Given the description of an element on the screen output the (x, y) to click on. 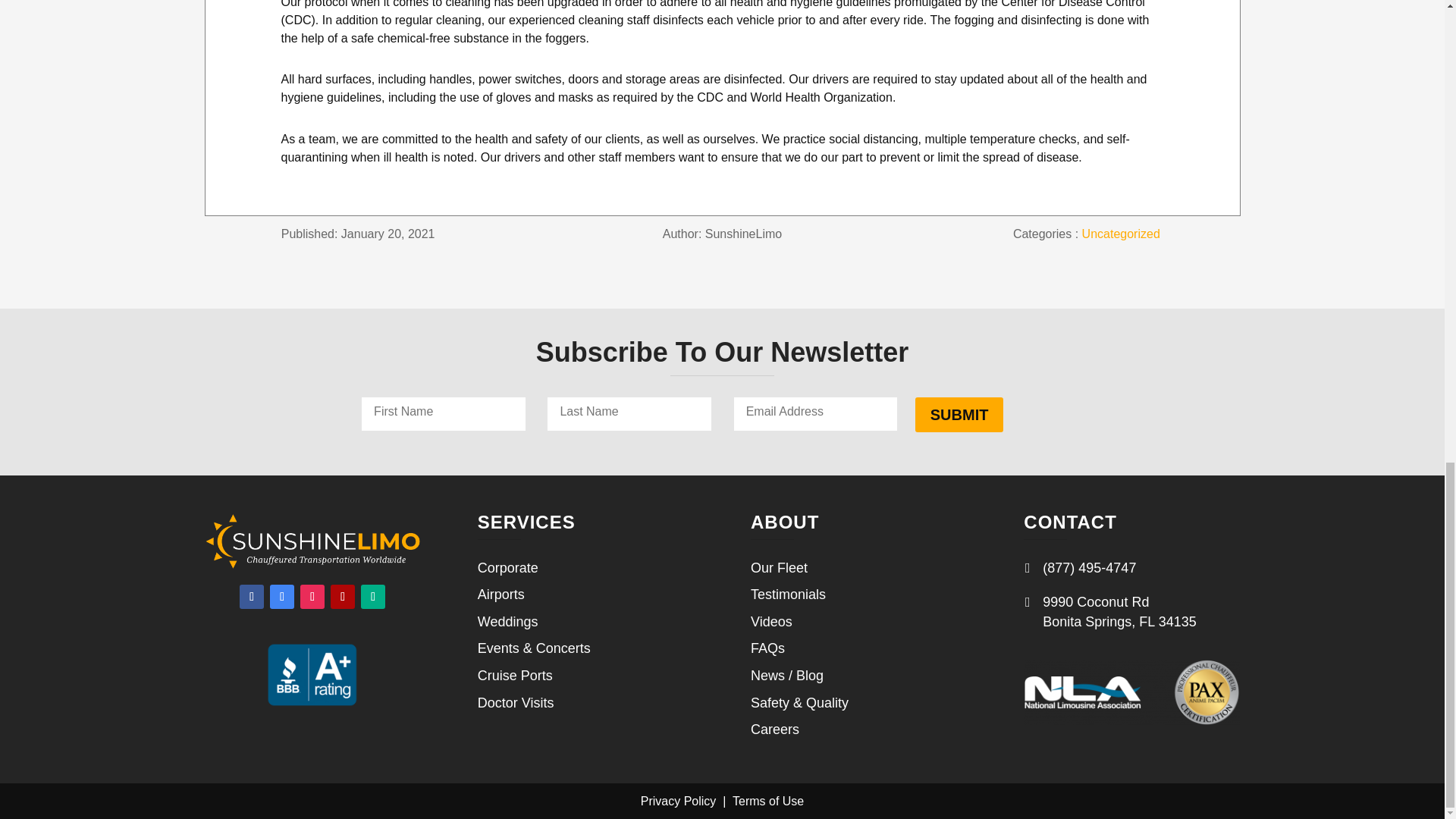
Follow on Yelp (342, 596)
BBBAPlus (312, 674)
SL-Logo-15 (312, 541)
Follow on Google (281, 596)
Follow on TripAdvisor (373, 596)
Follow on Facebook (251, 596)
Follow on Instagram (311, 596)
